Given the description of an element on the screen output the (x, y) to click on. 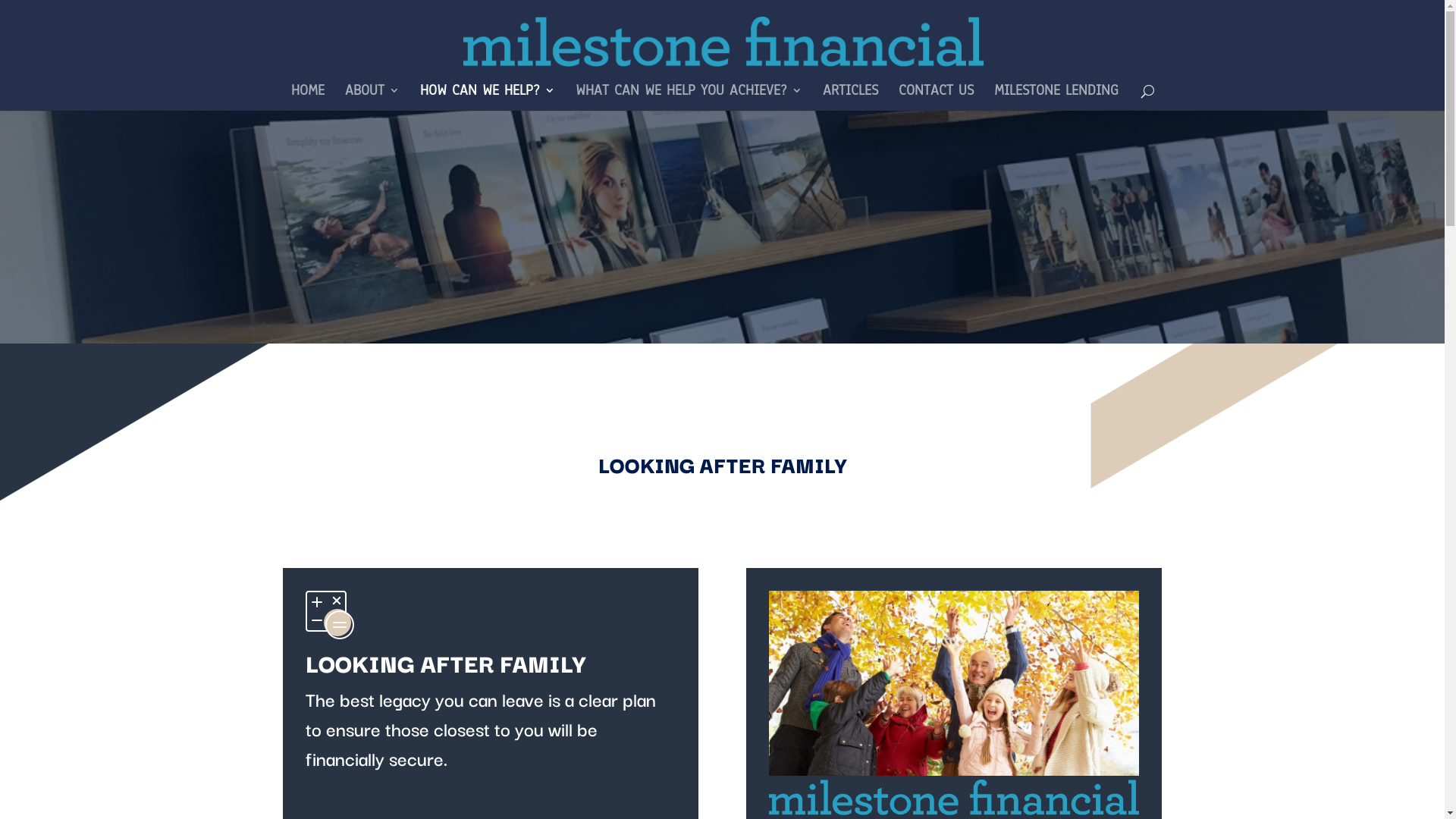
mf-logo Element type: hover (953, 797)
ABOUT Element type: text (371, 97)
HOME Element type: text (307, 97)
WHAT CAN WE HELP YOU ACHIEVE? Element type: text (687, 97)
financial-advisor-icon-7 Element type: hover (328, 614)
ARTICLES Element type: text (849, 97)
HOW CAN WE HELP? Element type: text (487, 97)
19 Element type: hover (953, 682)
MILESTONE LENDING Element type: text (1055, 97)
CONTACT US Element type: text (934, 97)
